Given the description of an element on the screen output the (x, y) to click on. 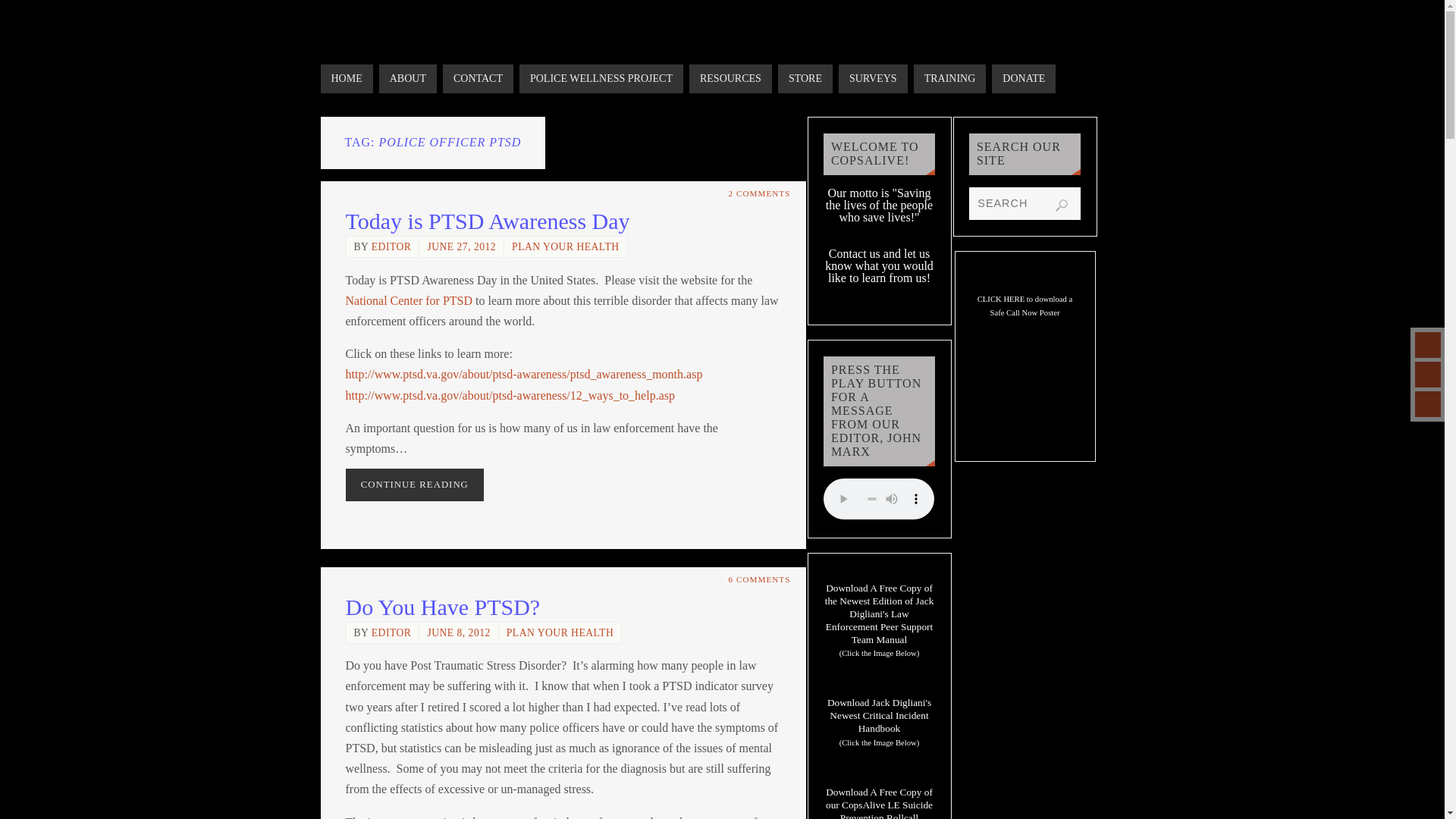
SURVEYS (872, 78)
View all posts by Editor (391, 632)
JUNE 27, 2012 (461, 246)
View all posts by Editor (391, 246)
Permalink to Today is PTSD Awareness Day (488, 220)
Today is PTSD Awareness Day (488, 220)
EDITOR (391, 246)
PLAN YOUR HEALTH (565, 246)
CONTACT (477, 78)
TRAINING (950, 78)
